Given the description of an element on the screen output the (x, y) to click on. 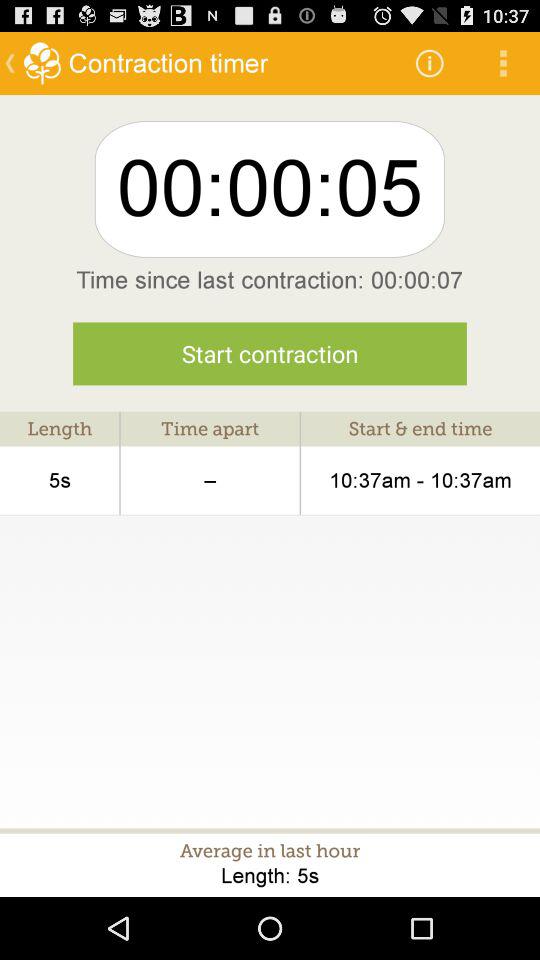
choose icon next to the contraction timer icon (429, 62)
